Given the description of an element on the screen output the (x, y) to click on. 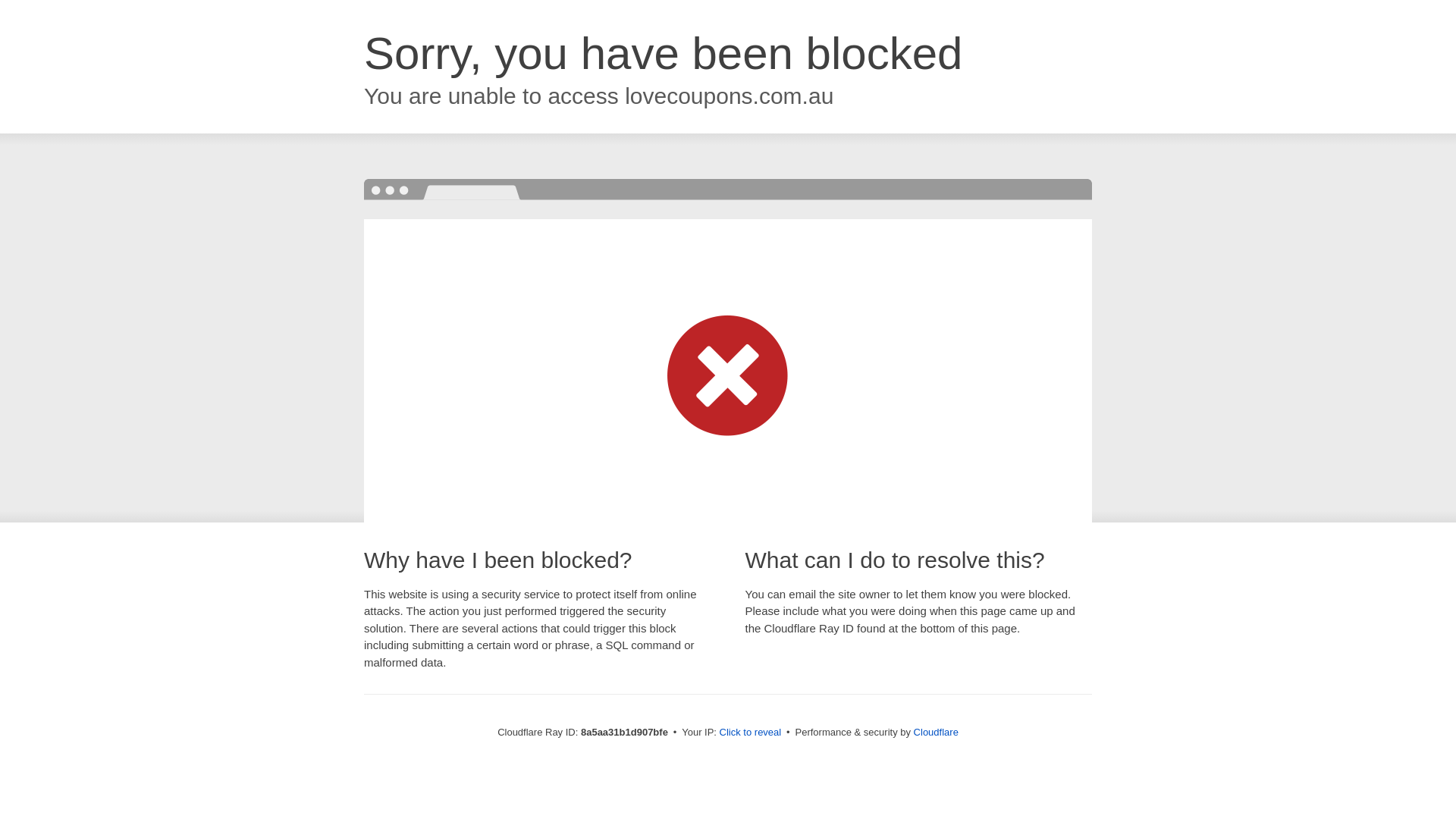
Cloudflare (936, 731)
Click to reveal (750, 732)
